Given the description of an element on the screen output the (x, y) to click on. 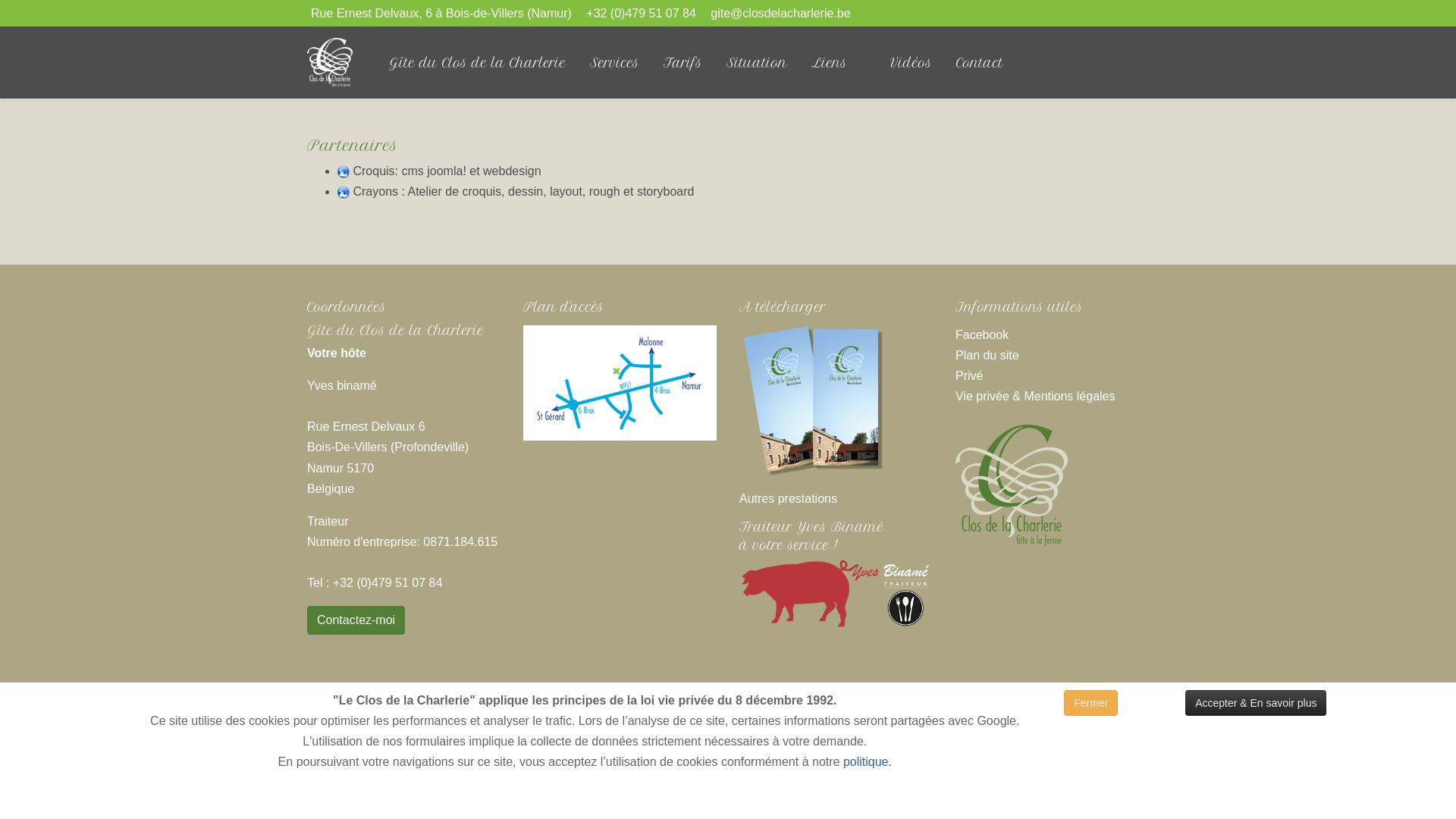
Ivan Lammerant - Illustrateur Element type: text (652, 719)
Facebook Element type: text (981, 334)
Contact Element type: text (979, 62)
politique Element type: text (865, 761)
+32 (0)479 51 07 84 Element type: text (641, 12)
Liens Element type: text (838, 62)
Contactez-moi Element type: text (355, 619)
Croquis: cms joomla! et webdesign Element type: text (446, 170)
Situation Element type: text (756, 62)
Accepter & En savoir plus Element type: text (1255, 702)
Contactez-moi Element type: text (355, 618)
Fermer Element type: text (1090, 702)
Services Element type: text (614, 62)
gite@closdelacharlerie.be Element type: text (780, 12)
Plan du site Element type: text (987, 354)
Tarifs Element type: text (682, 62)
